Given the description of an element on the screen output the (x, y) to click on. 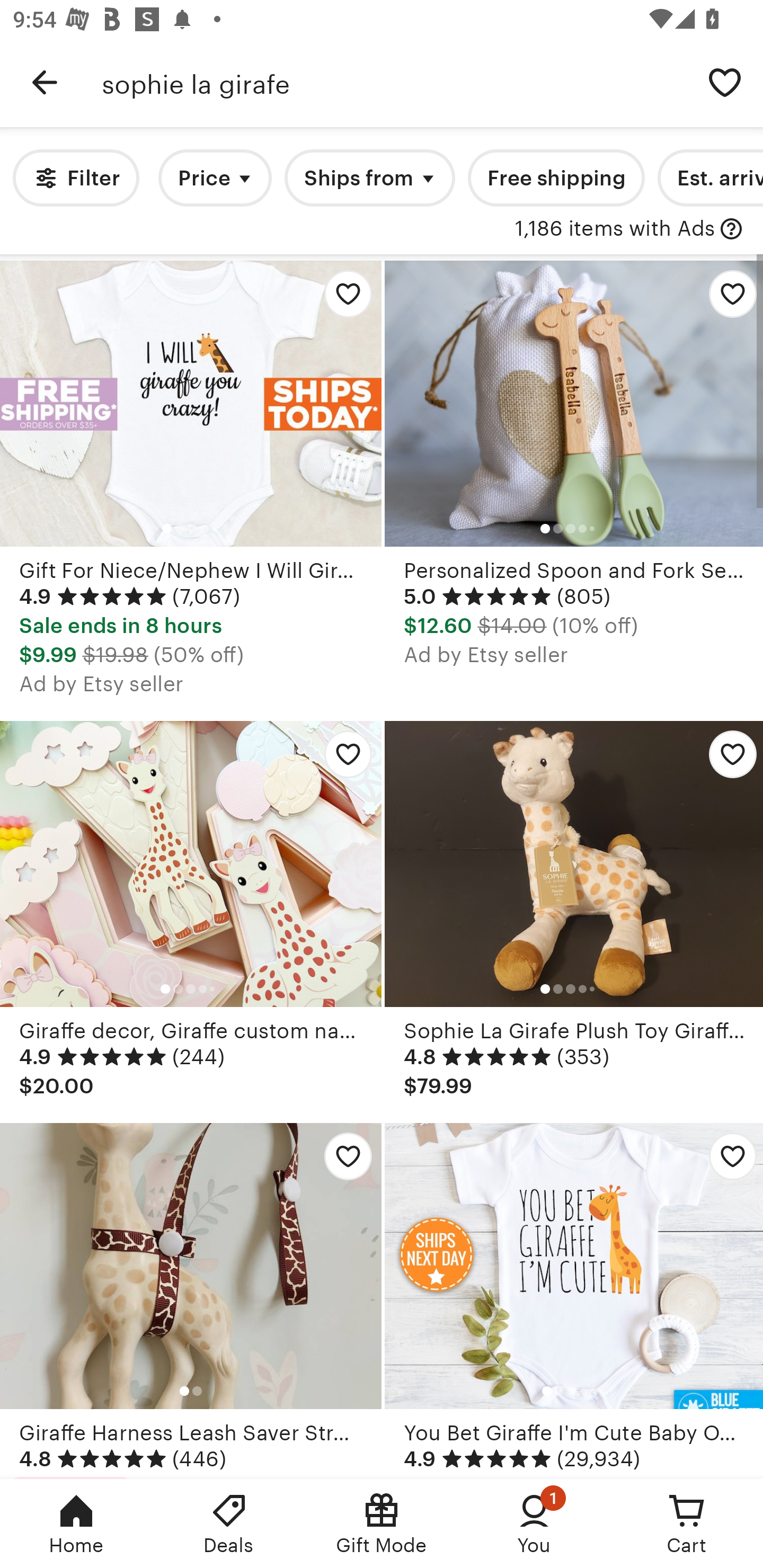
Navigate up (44, 82)
Save search (724, 81)
sophie la girafe (393, 82)
Filter (75, 177)
Price (214, 177)
Ships from (369, 177)
Free shipping (555, 177)
1,186 items with Ads (615, 228)
with Ads (730, 228)
Deals (228, 1523)
Gift Mode (381, 1523)
You, 1 new notification You (533, 1523)
Cart (686, 1523)
